Given the description of an element on the screen output the (x, y) to click on. 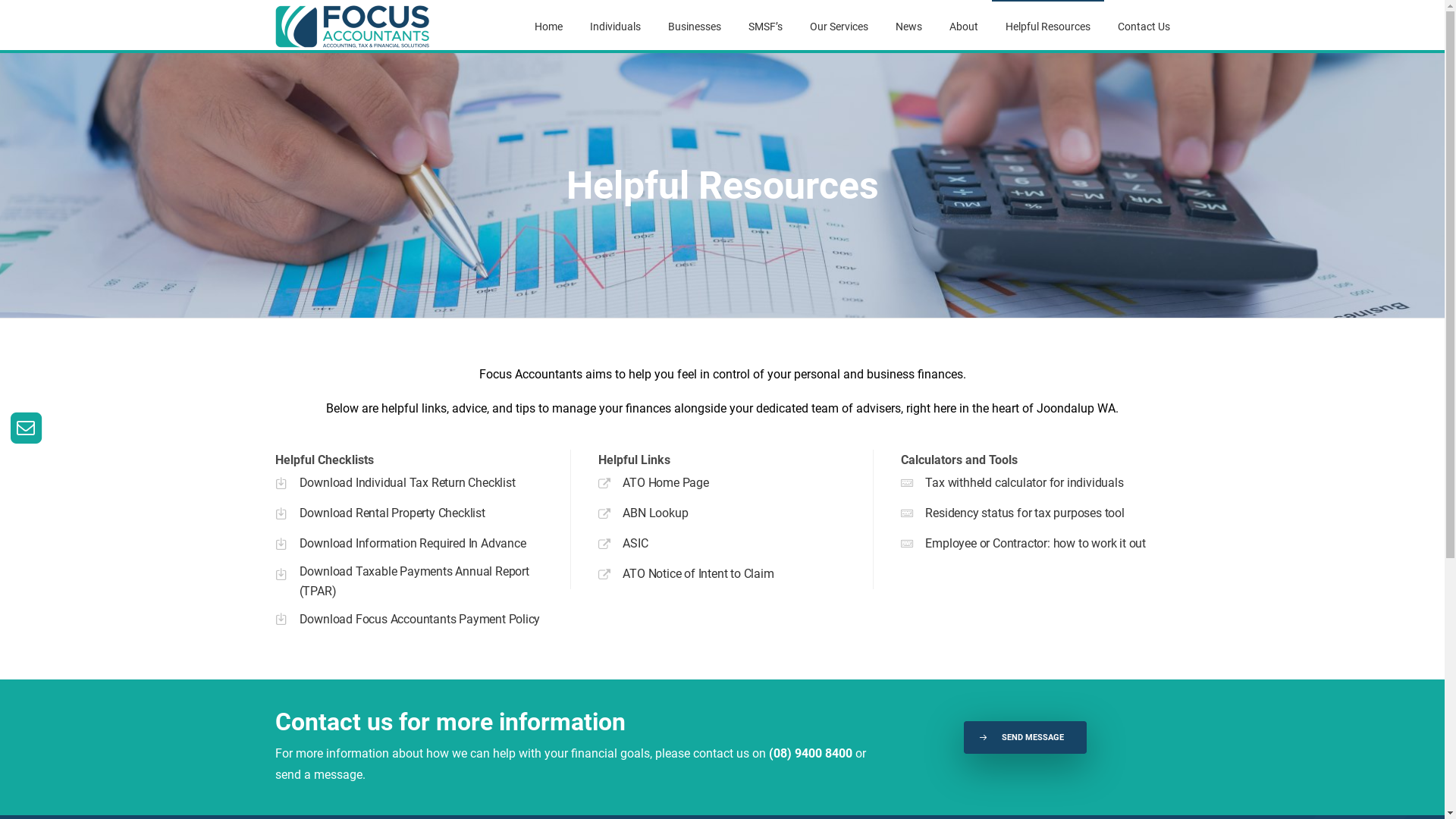
Individuals Element type: text (614, 26)
Helpful Resources Element type: text (1047, 26)
Site logo Element type: hover (352, 26)
Contact Us Element type: text (1143, 26)
Businesses Element type: text (693, 26)
Home Element type: text (547, 26)
News Element type: text (907, 26)
SEND MESSAGE Element type: text (1024, 737)
Search Element type: text (1071, 412)
Our Services Element type: text (838, 26)
About Element type: text (963, 26)
